Given the description of an element on the screen output the (x, y) to click on. 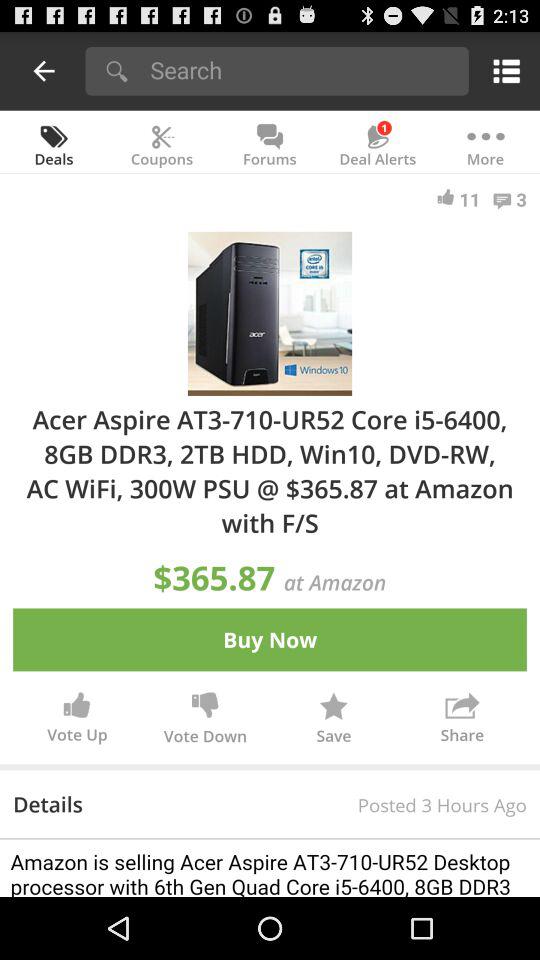
tap the button to the left of share icon (333, 721)
